Given the description of an element on the screen output the (x, y) to click on. 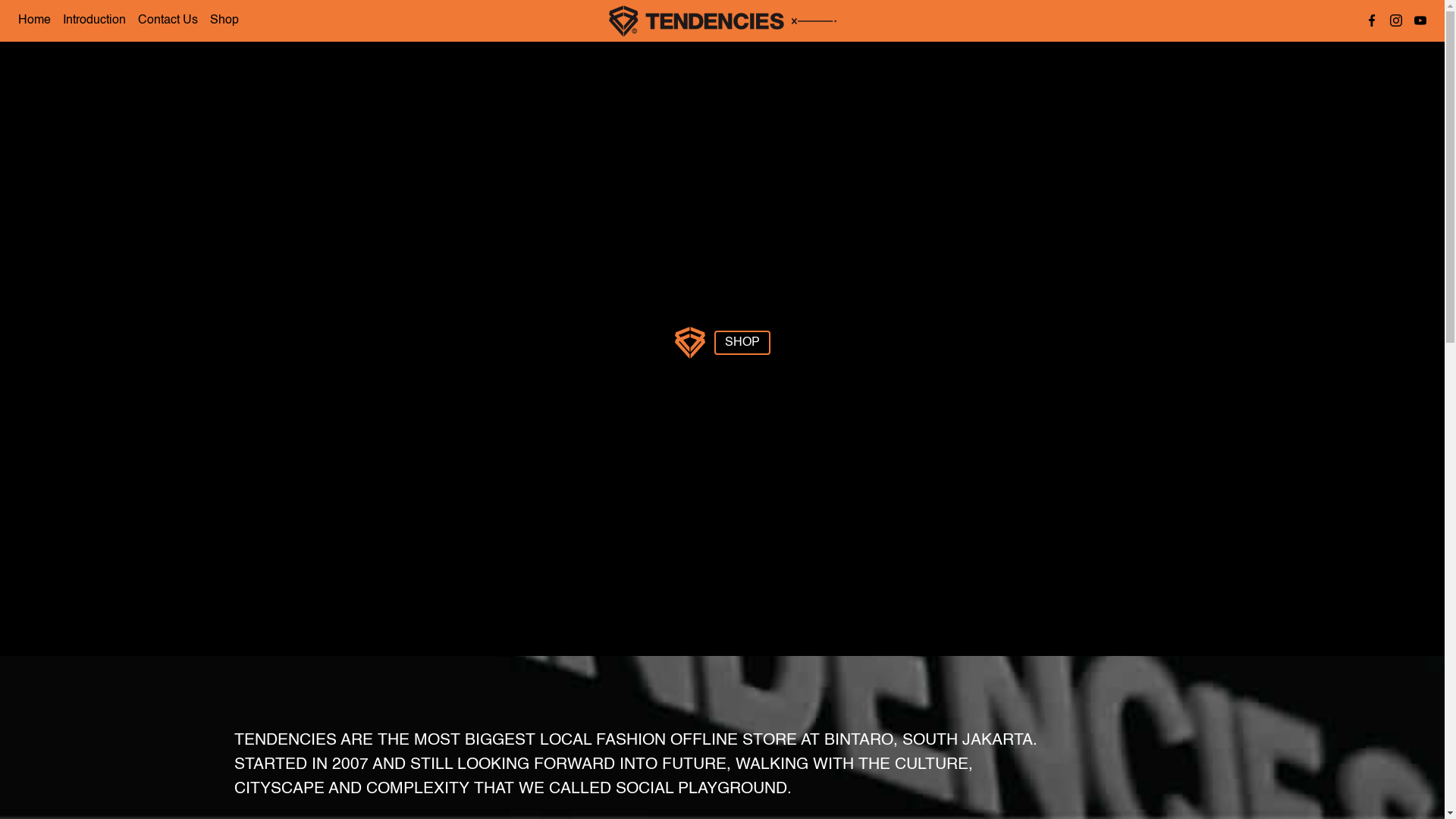
Contact Us Element type: text (167, 20)
="facebook" Element type: hover (1371, 20)
Shop Element type: text (223, 20)
Home
(current) Element type: text (34, 20)
="instagram" Element type: hover (1395, 20)
Introduction Element type: text (93, 20)
="youtube" Element type: hover (1420, 20)
SHOP Element type: text (742, 342)
